Given the description of an element on the screen output the (x, y) to click on. 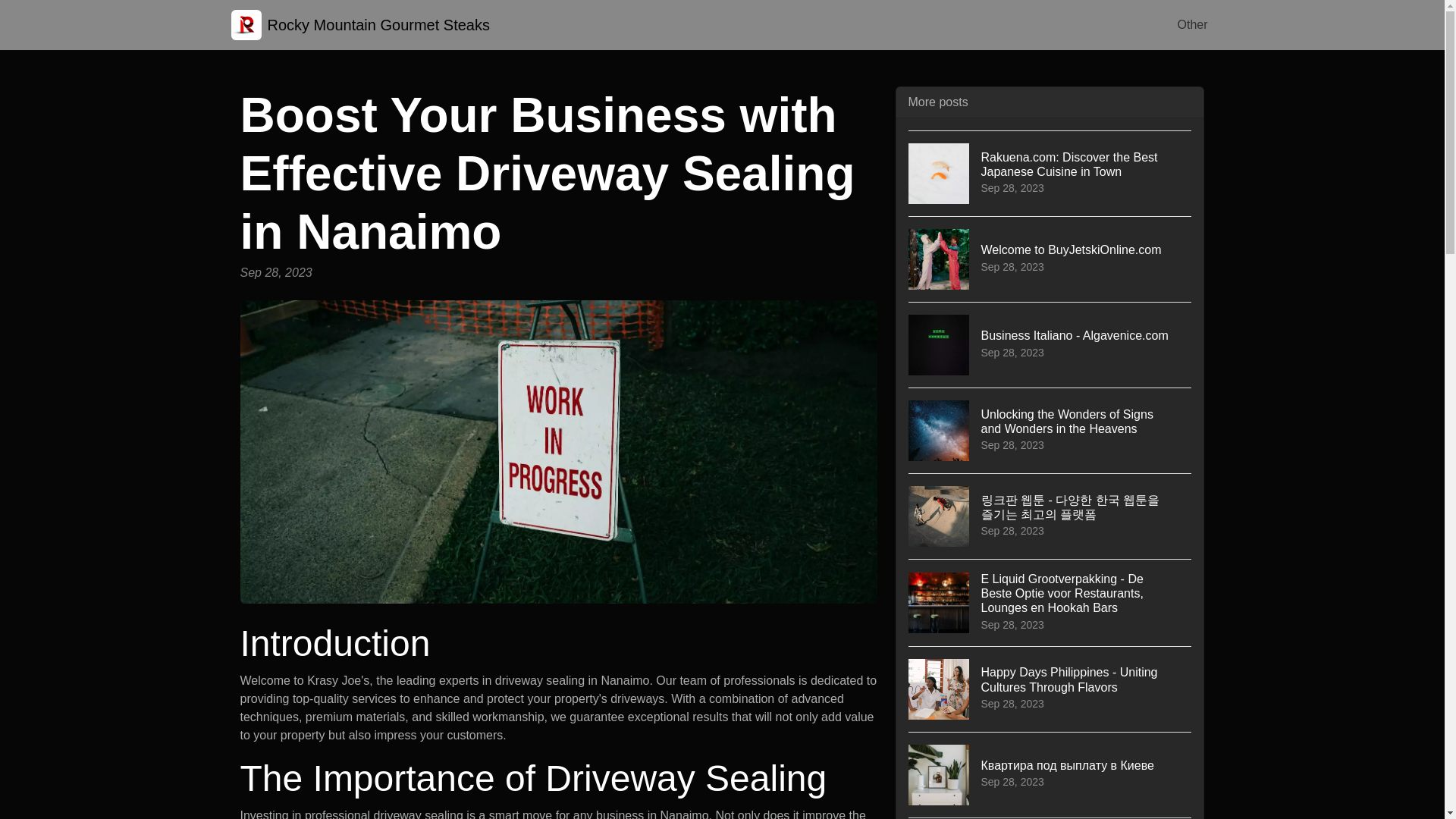
Rocky Mountain Gourmet Steaks (359, 24)
Other (1050, 344)
